Given the description of an element on the screen output the (x, y) to click on. 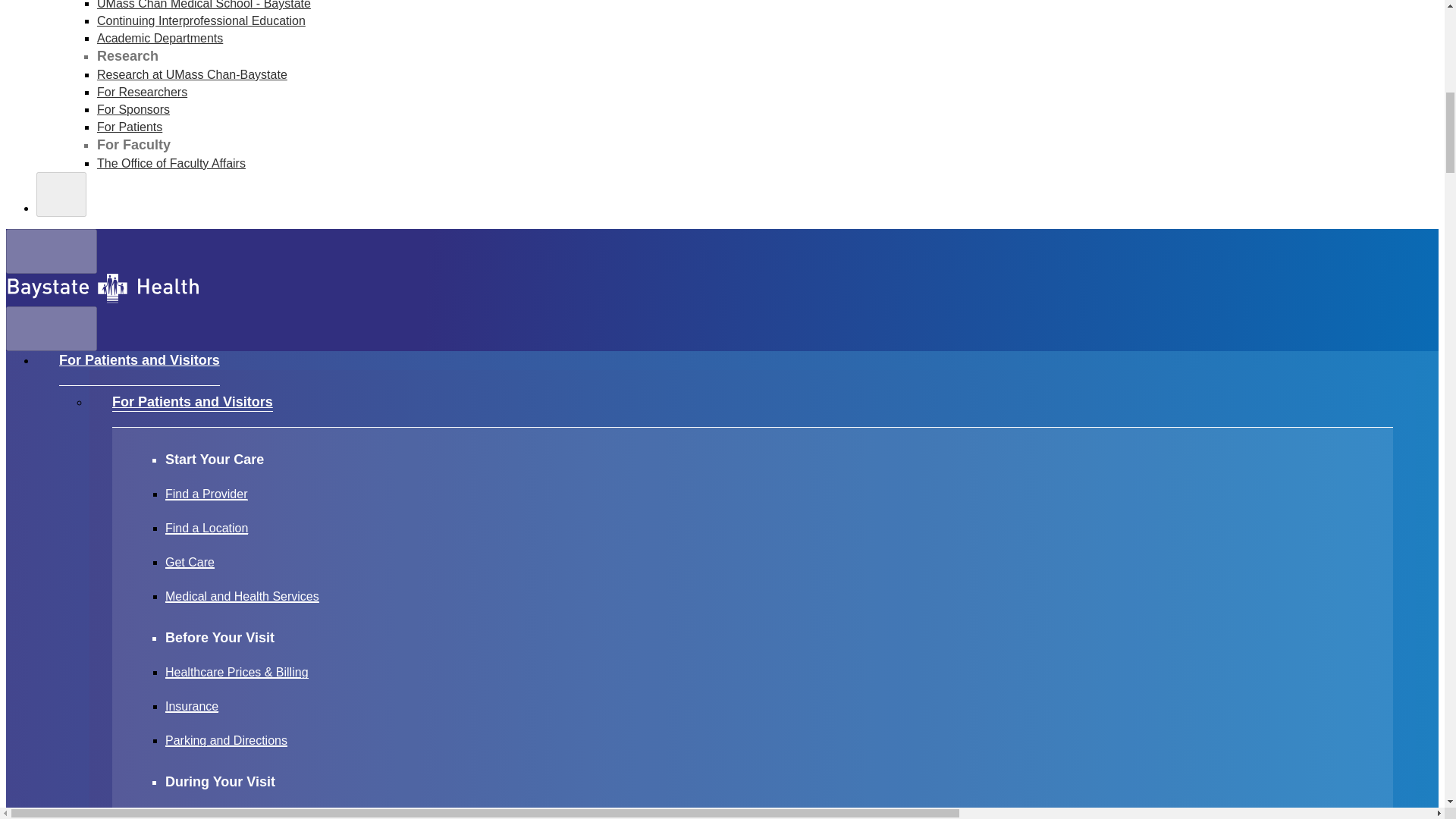
Continuing Interprofessional Education (201, 20)
For Researchers (142, 91)
Research at UMass Chan-Baystate (191, 74)
For Sponsors (133, 109)
Academic Departments (159, 38)
UMass Chan Medical School - Baystate (204, 4)
